Given the description of an element on the screen output the (x, y) to click on. 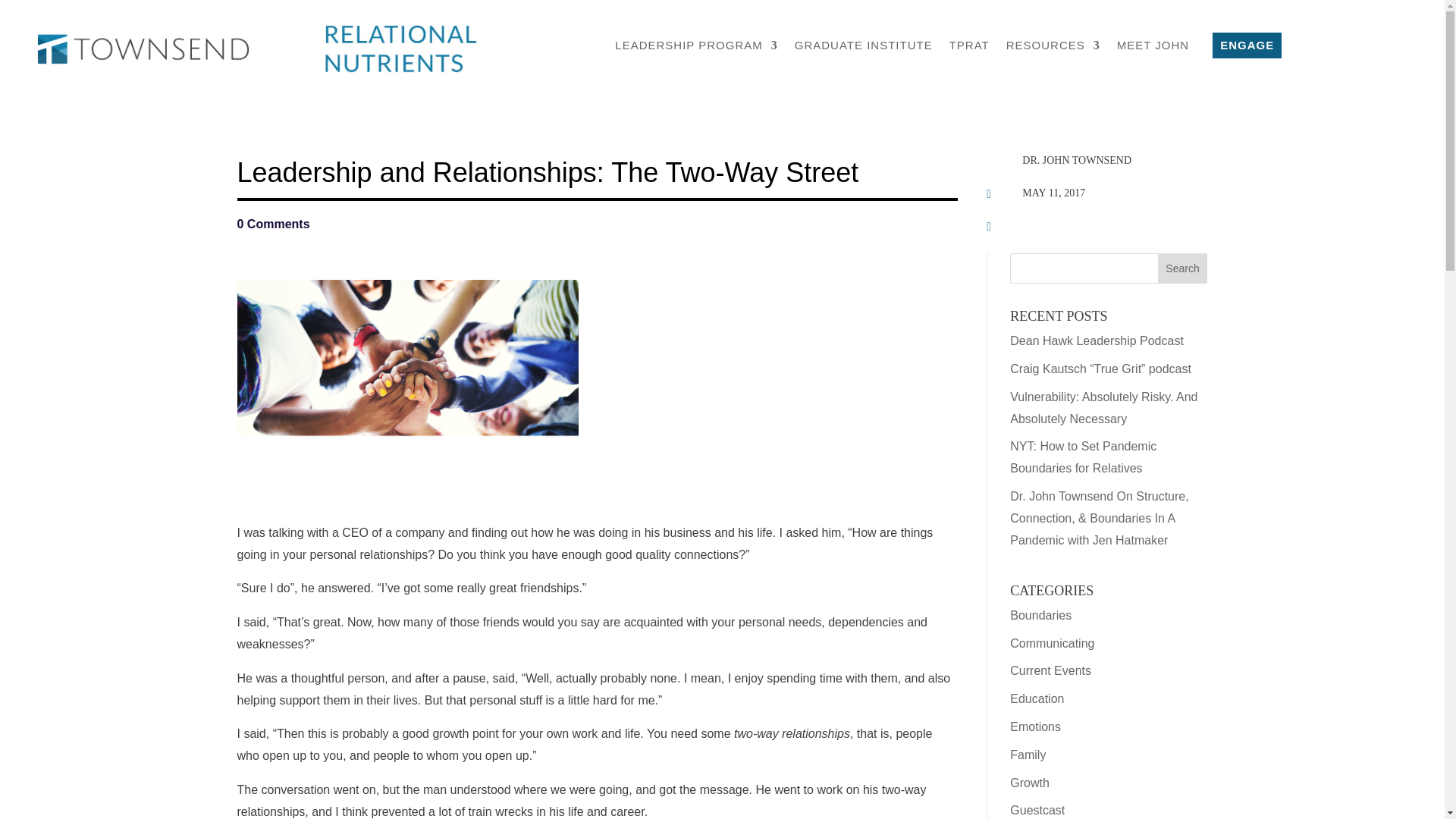
townsend logo dark (143, 48)
RESOURCES (1053, 49)
LEADERSHIP PROGRAM (695, 49)
GRADUATE INSTITUTE (863, 49)
relational-nutrients-logo-text (400, 68)
0 Comments (271, 223)
Dean Hawk Leadership Podcast (1096, 340)
Boundaries (1040, 615)
TPRAT (969, 49)
Search (1182, 268)
ENGAGE (1247, 45)
NYT: How to Set Pandemic Boundaries for Relatives (1083, 457)
MEET JOHN (1152, 49)
Vulnerability: Absolutely Risky. And Absolutely Necessary (1103, 407)
Search (1182, 268)
